Given the description of an element on the screen output the (x, y) to click on. 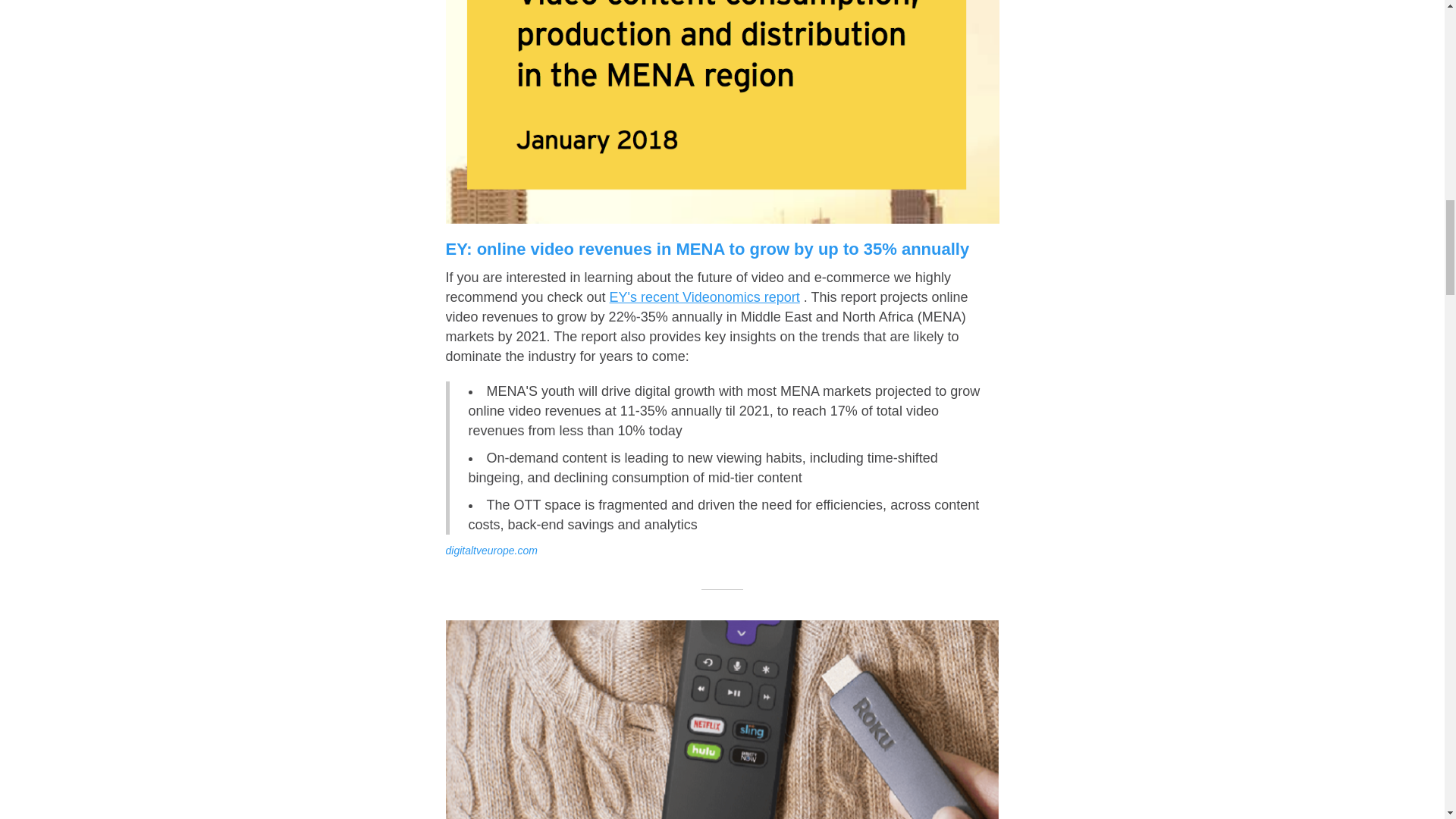
Roku is introducing an OTT advertising measurement service (721, 719)
EY's recent Videonomics report (704, 296)
digitaltveurope.com (491, 550)
